Given the description of an element on the screen output the (x, y) to click on. 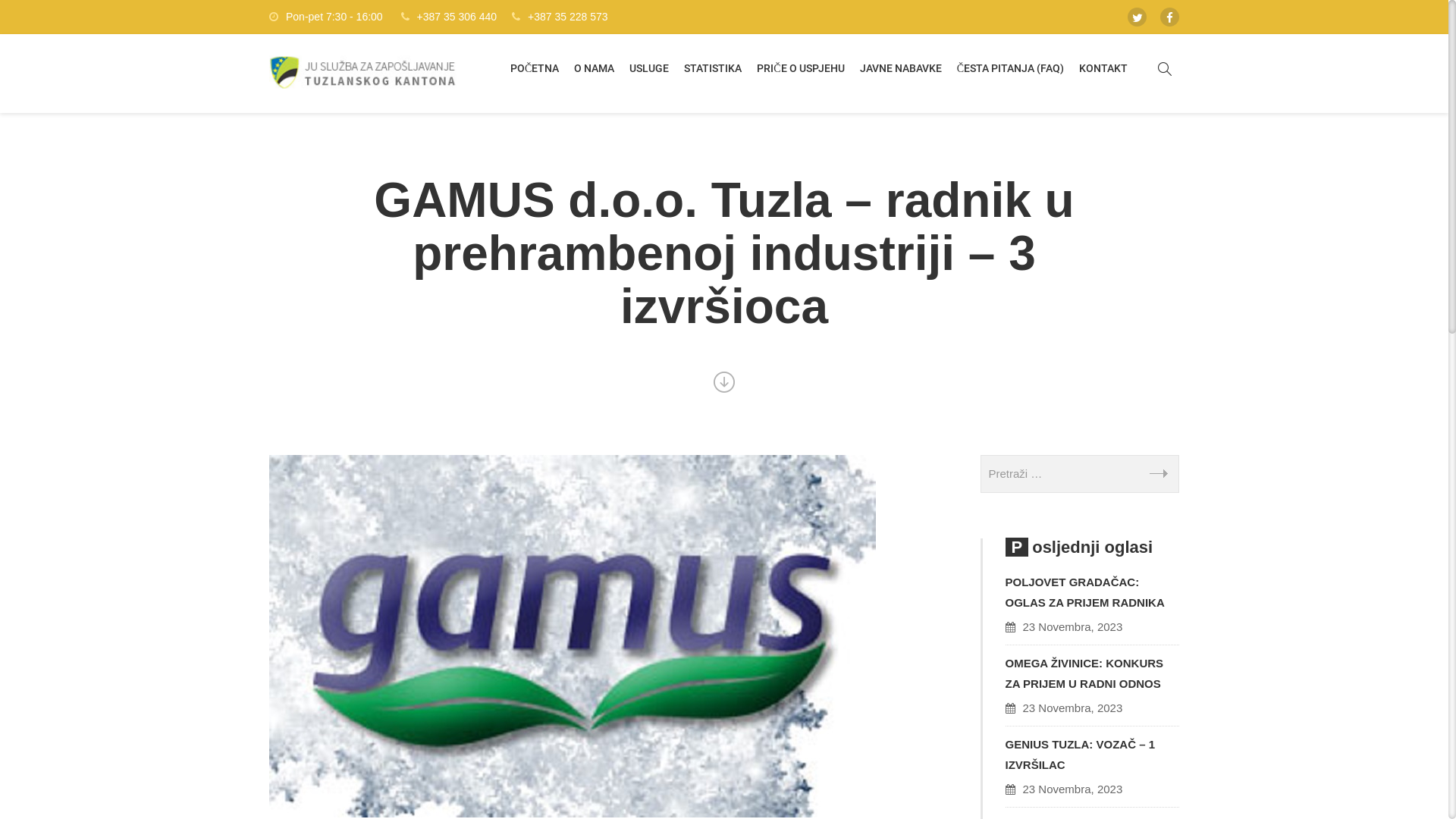
Pretraga Element type: text (1158, 122)
Pretraga Element type: text (1158, 473)
JAVNE NABAVKE Element type: text (900, 68)
STATISTIKA Element type: text (712, 68)
O NAMA Element type: text (593, 68)
KONTAKT Element type: text (1103, 68)
USLUGE Element type: text (648, 68)
